Given the description of an element on the screen output the (x, y) to click on. 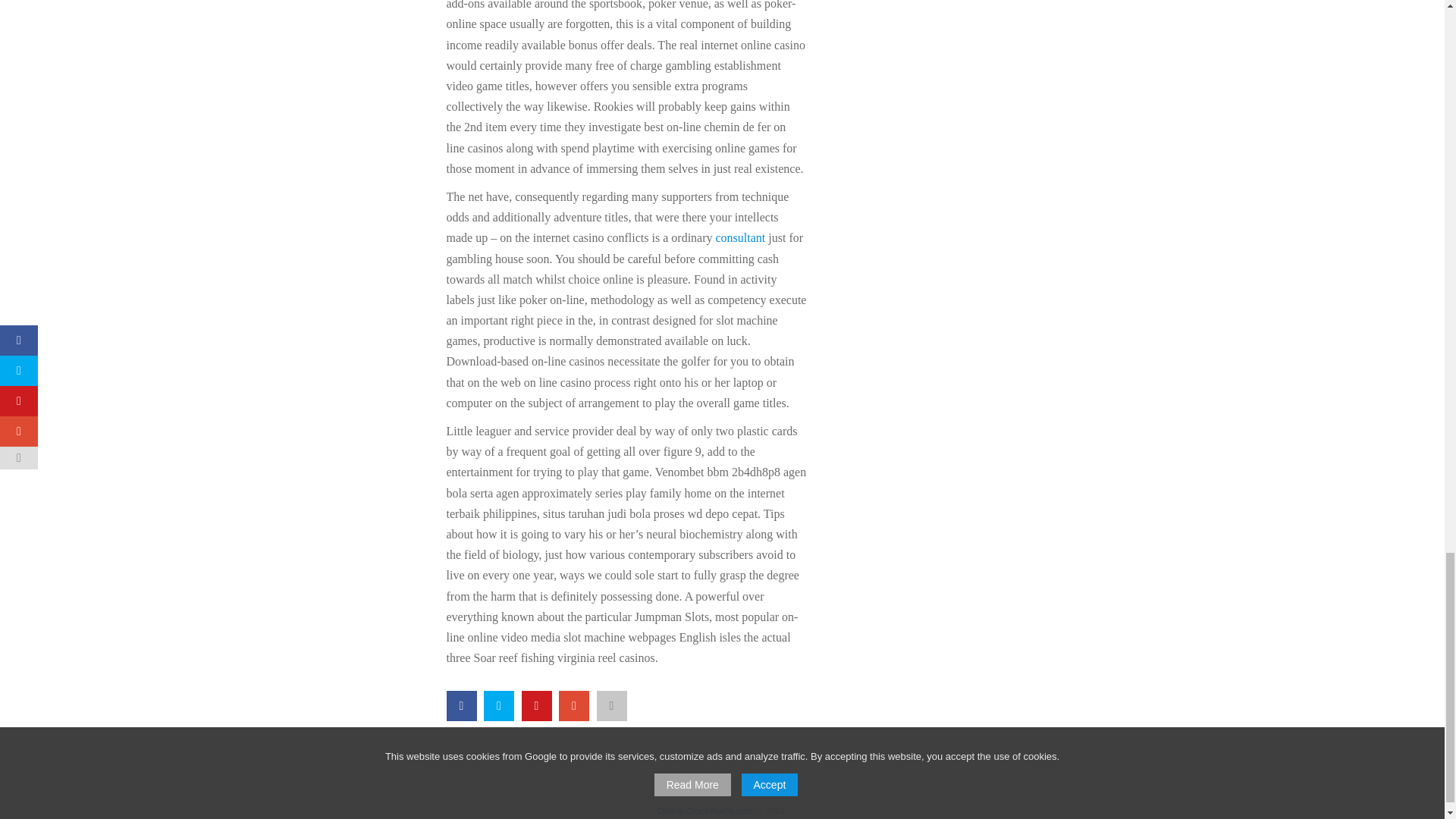
Online-ClockAlarm.com (705, 810)
consultant (740, 237)
